Given the description of an element on the screen output the (x, y) to click on. 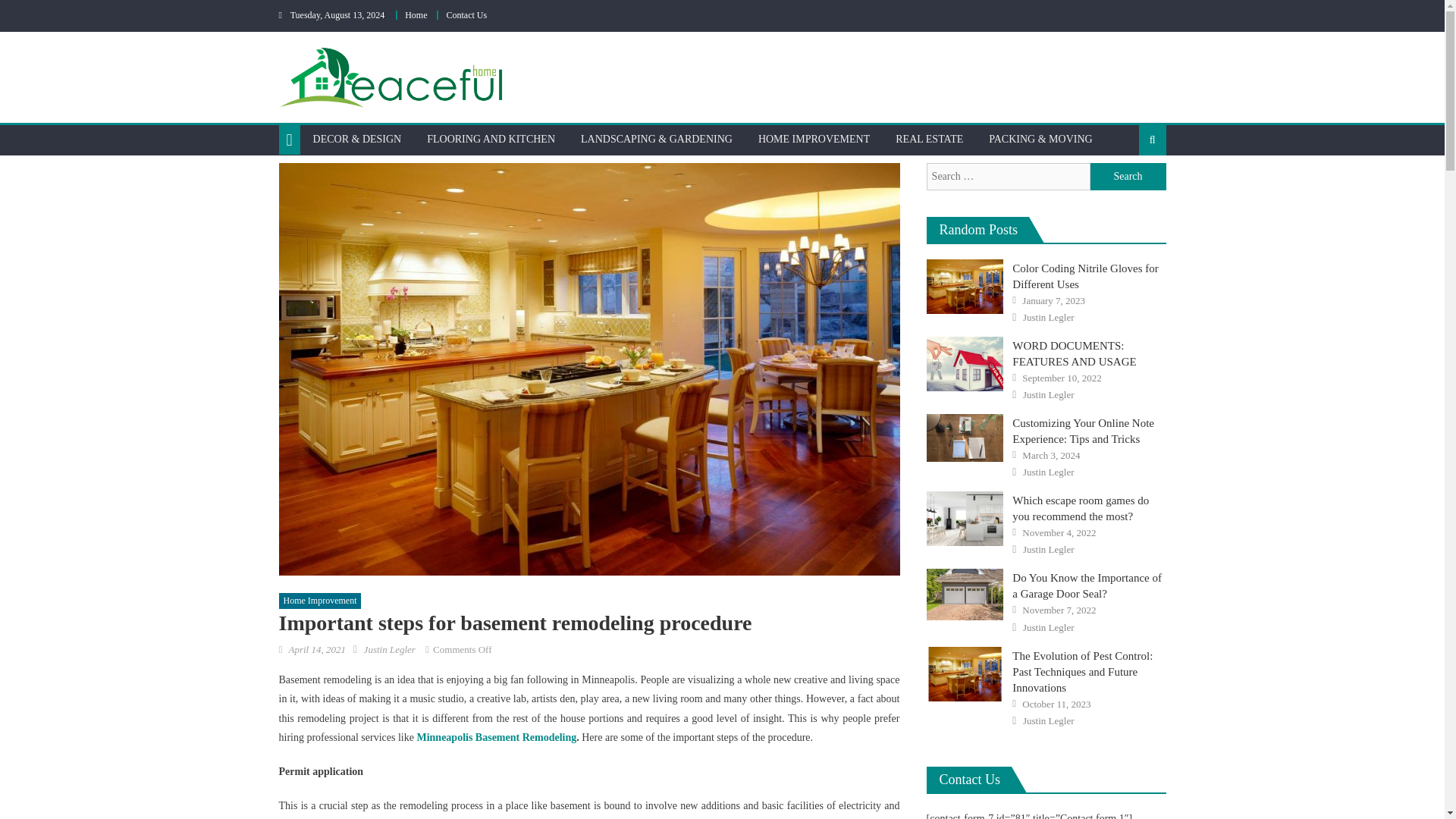
Search (1128, 176)
Search (1128, 176)
Color Coding Nitrile Gloves for Different Uses (964, 286)
Home (415, 14)
Which escape room games do you recommend the most? (964, 518)
Customizing Your Online Note Experience: Tips and Tricks (964, 437)
Home Improvement (320, 600)
REAL ESTATE (928, 139)
Search (1128, 188)
HOME IMPROVEMENT (813, 139)
